Given the description of an element on the screen output the (x, y) to click on. 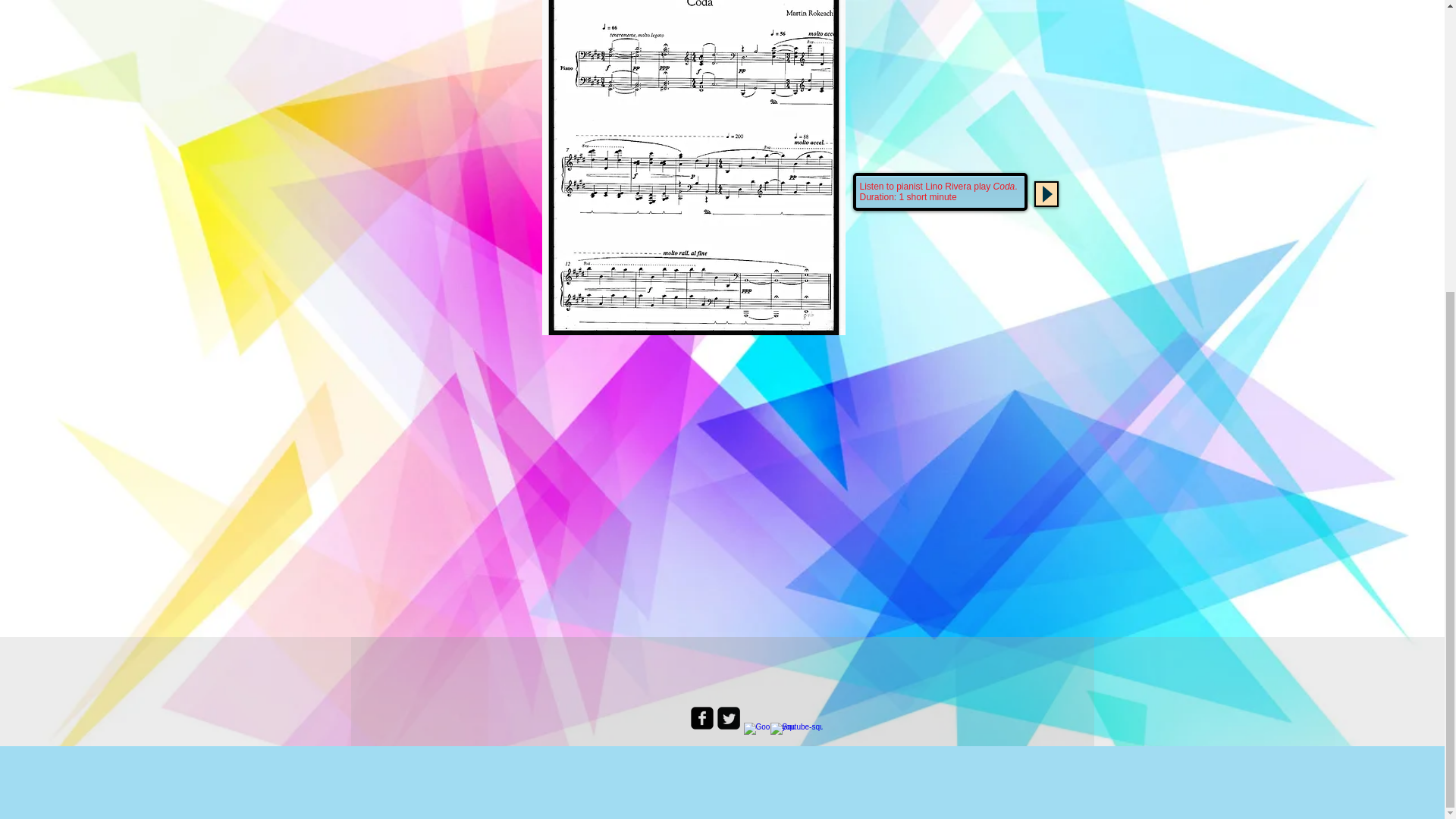
Coda.jpeg (692, 167)
